Given the description of an element on the screen output the (x, y) to click on. 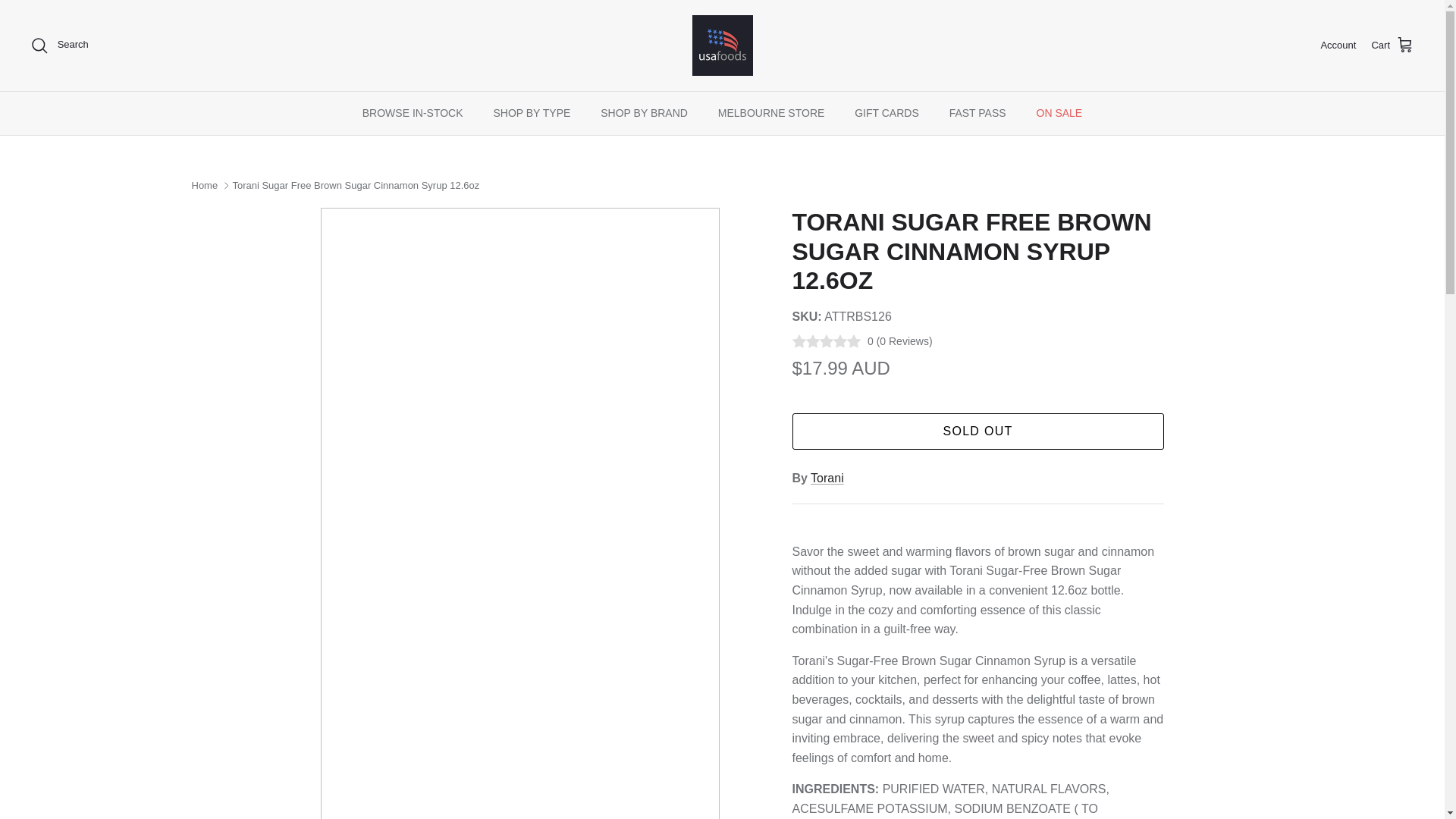
USAFoods (721, 45)
Cart (1392, 45)
Account (1337, 45)
Search (59, 45)
BROWSE IN-STOCK (413, 113)
SHOP BY TYPE (531, 113)
